Given the description of an element on the screen output the (x, y) to click on. 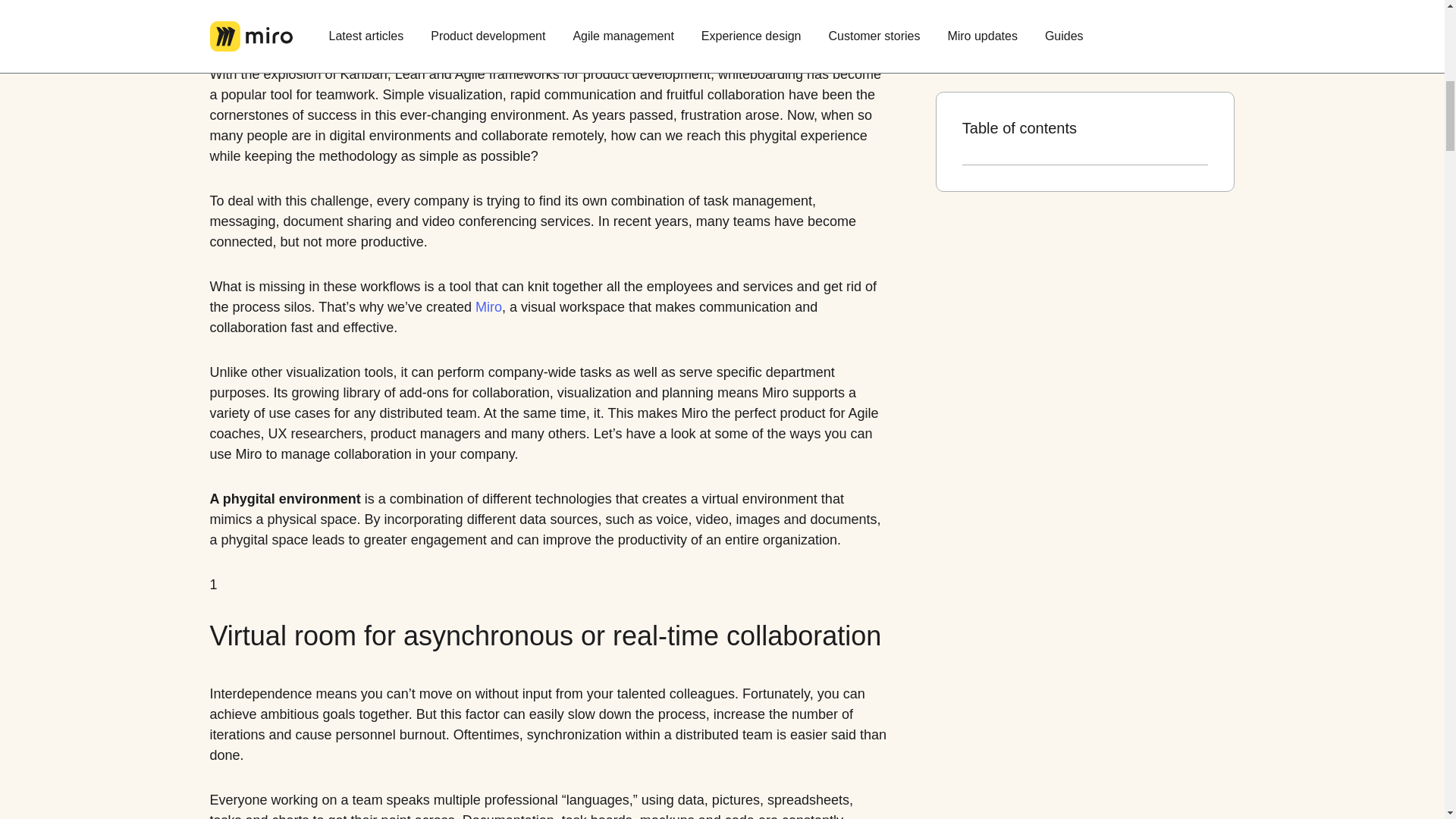
Miro (489, 307)
